Given the description of an element on the screen output the (x, y) to click on. 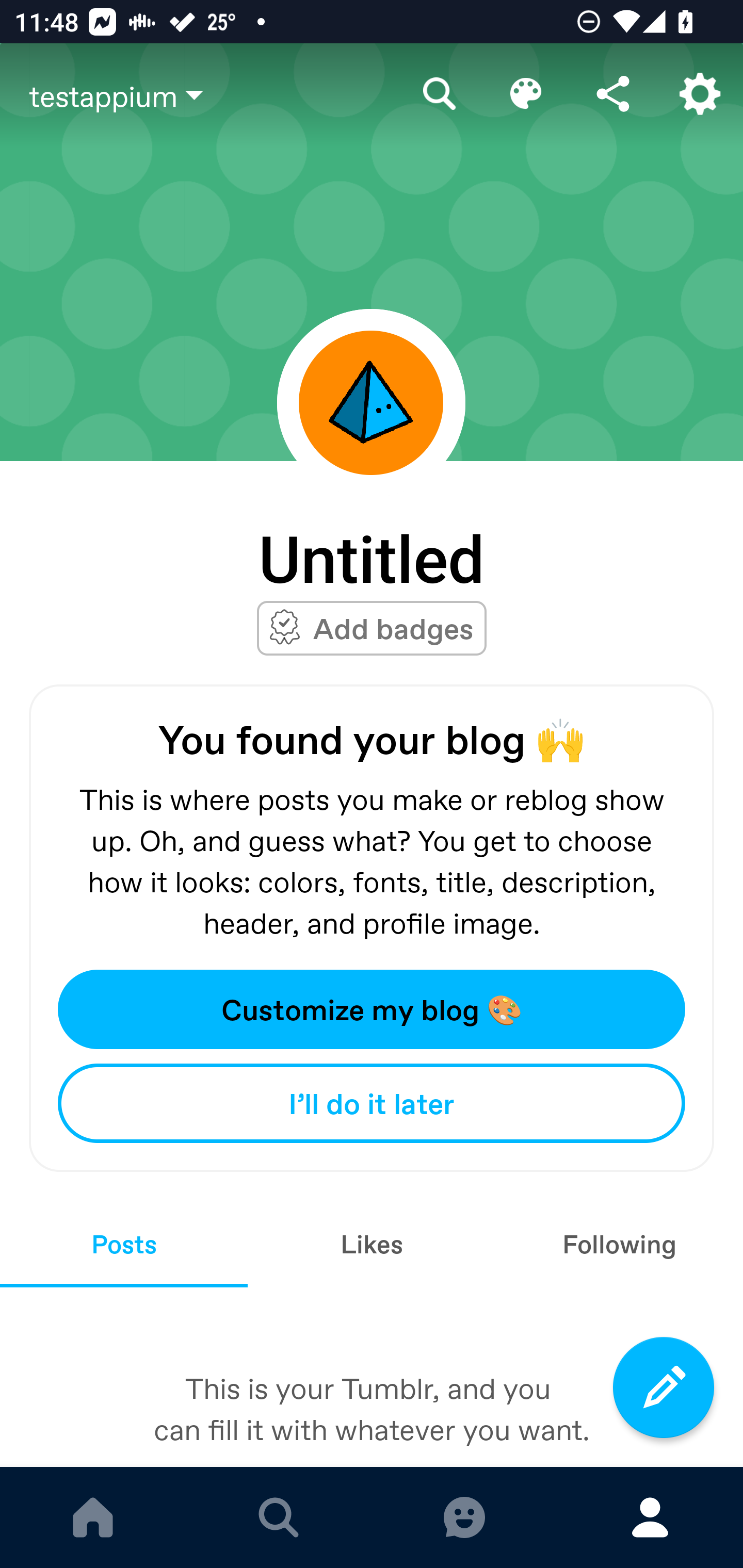
testappium (212, 95)
Search blog (439, 93)
Edit (525, 93)
Share (612, 93)
Account (699, 93)
Avatar frame (371, 402)
Add badges (393, 627)
Ask me anything (371, 935)
Customize my blog 🎨 (371, 1008)
I’ll do it later (371, 1103)
Likes (371, 1244)
Following (619, 1244)
Compose a new post (663, 1387)
DASHBOARD (92, 1517)
EXPLORE (278, 1517)
MESSAGES (464, 1517)
ACCOUNT (650, 1517)
